Given the description of an element on the screen output the (x, y) to click on. 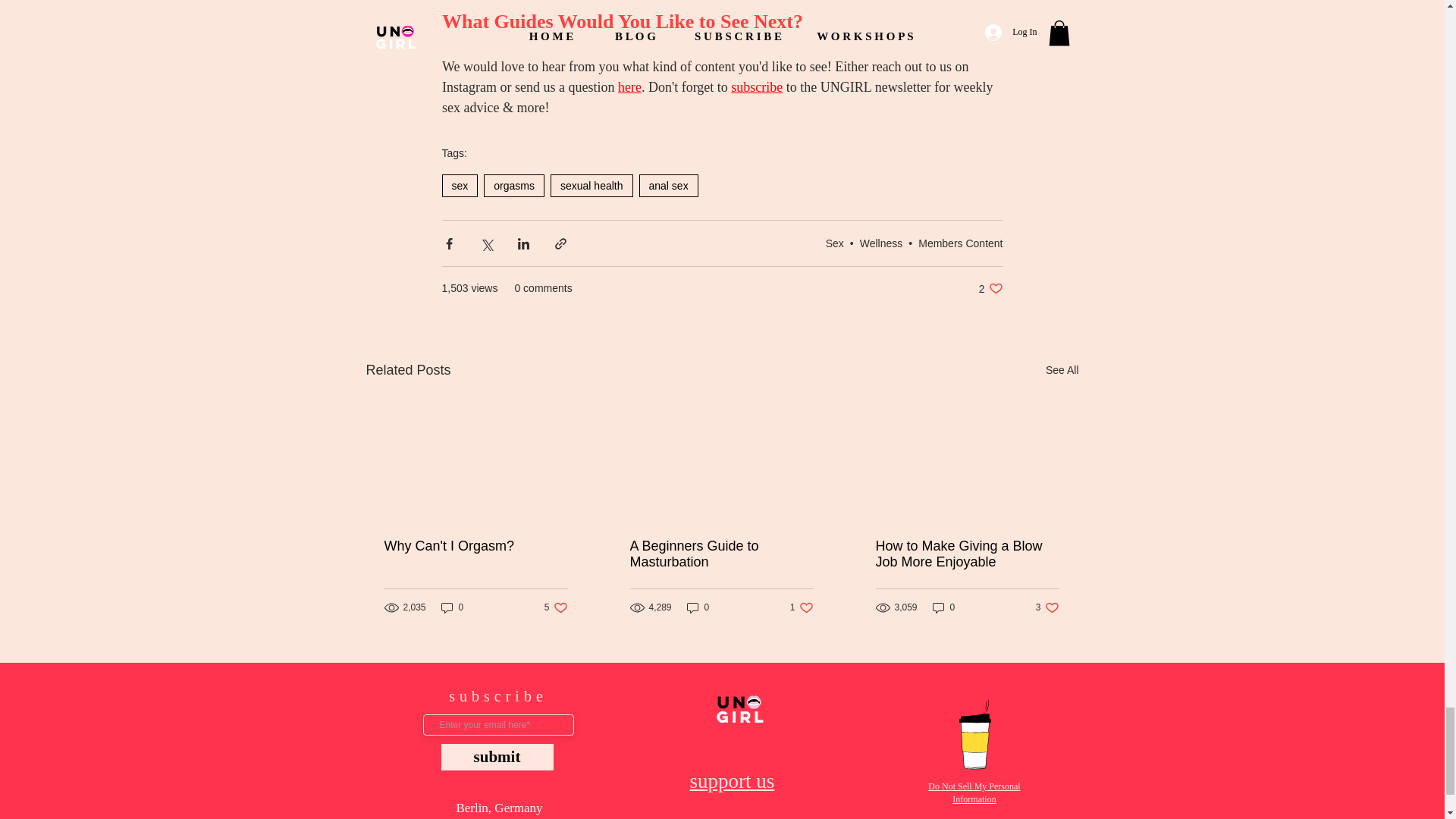
Wellness (881, 243)
Sex (834, 243)
here (628, 87)
See All (1061, 370)
orgasms (513, 185)
subscribe (756, 87)
sex (459, 185)
Why Can't I Orgasm? (475, 546)
sexual health (591, 185)
